Given the description of an element on the screen output the (x, y) to click on. 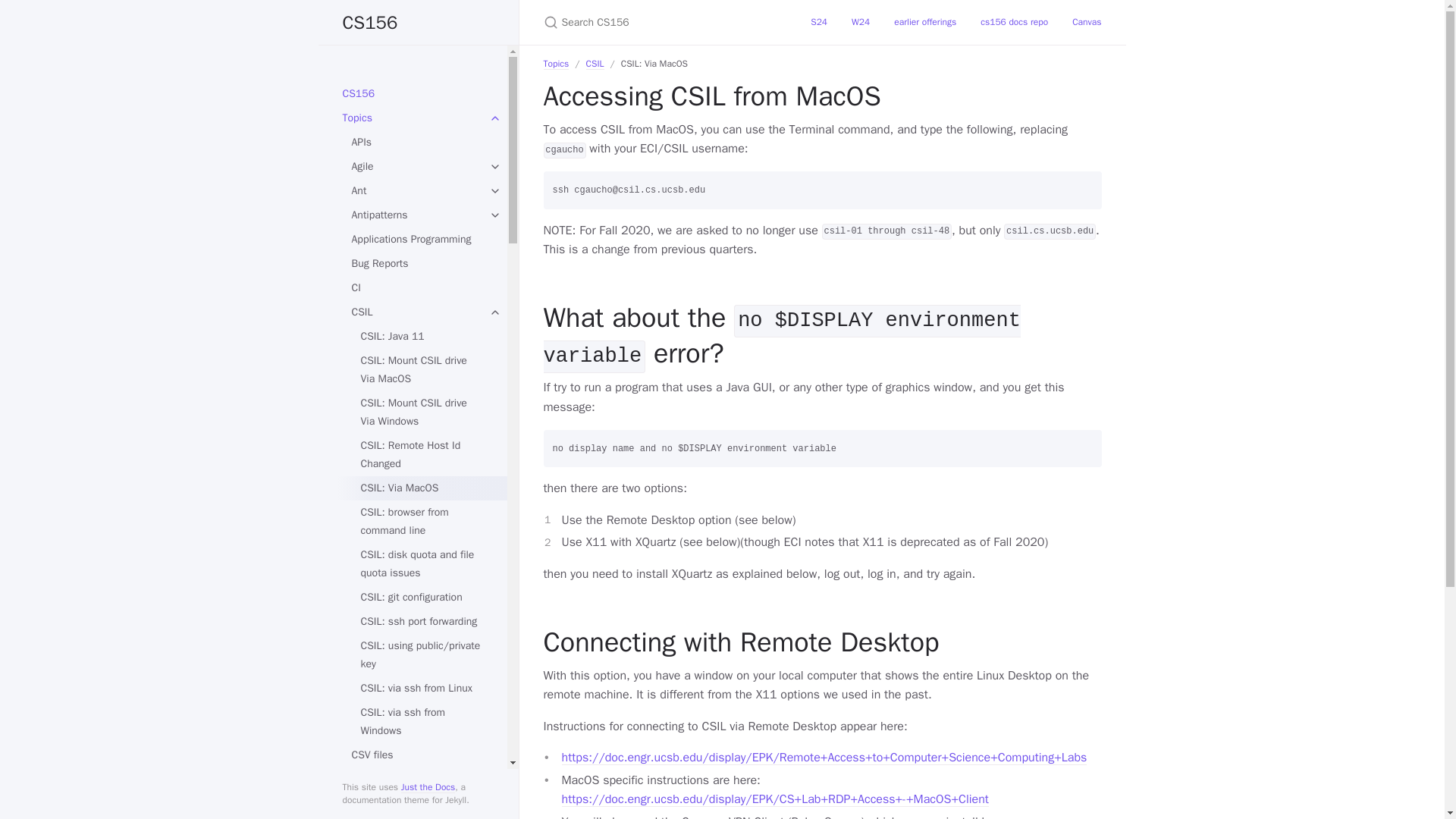
Antipatterns (416, 215)
CSIL: disk quota and file quota issues (421, 563)
APIs (416, 142)
CS156 (418, 22)
CSIL: browser from command line (421, 521)
CSIL: via ssh from Linux (421, 688)
CSIL: Remote Host Id Changed (421, 454)
CSIL: Java 11 (421, 336)
Ant (416, 191)
CSIL: Mount CSIL drive Via MacOS (421, 369)
